Given the description of an element on the screen output the (x, y) to click on. 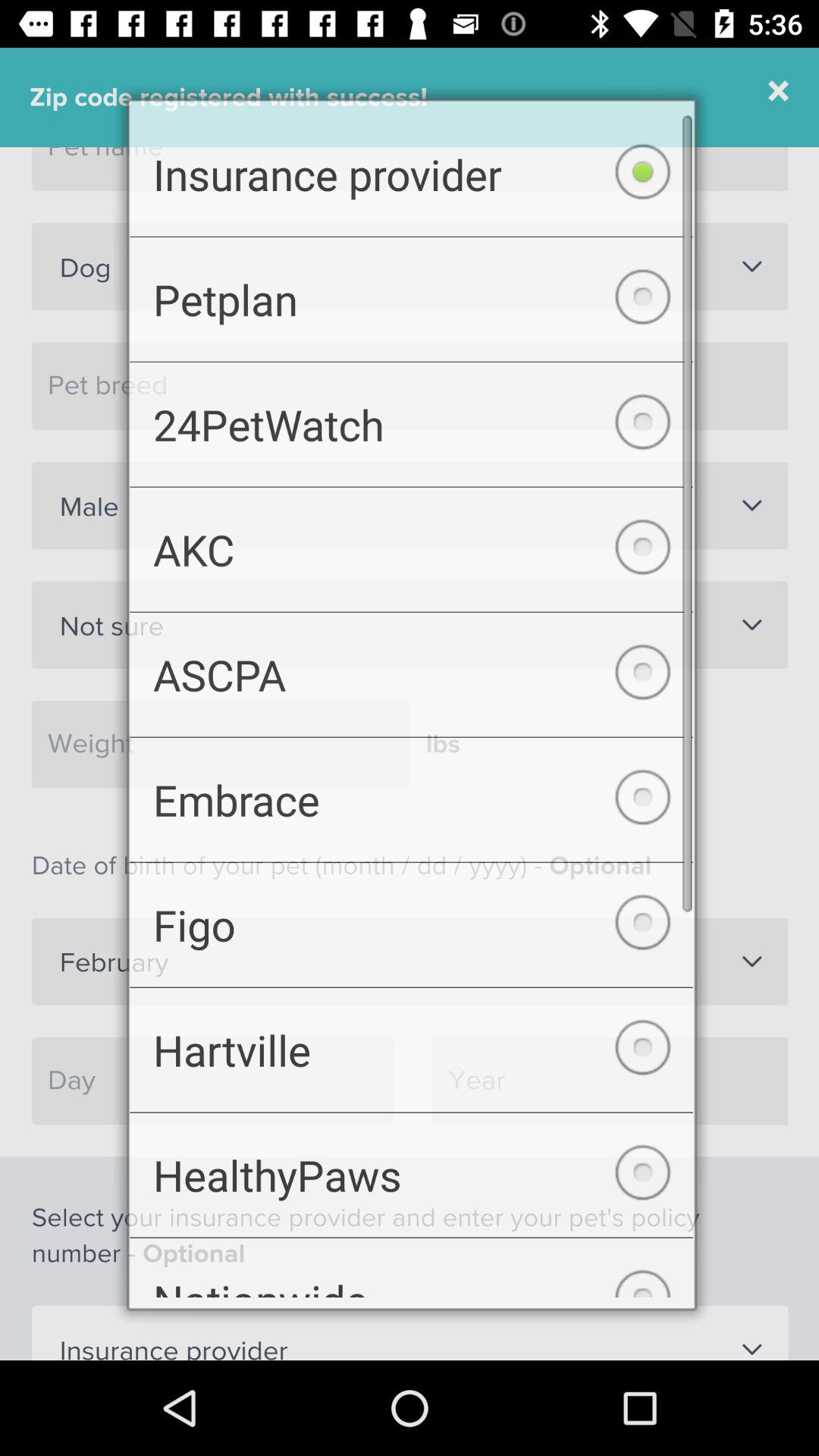
click hartville item (411, 1059)
